Given the description of an element on the screen output the (x, y) to click on. 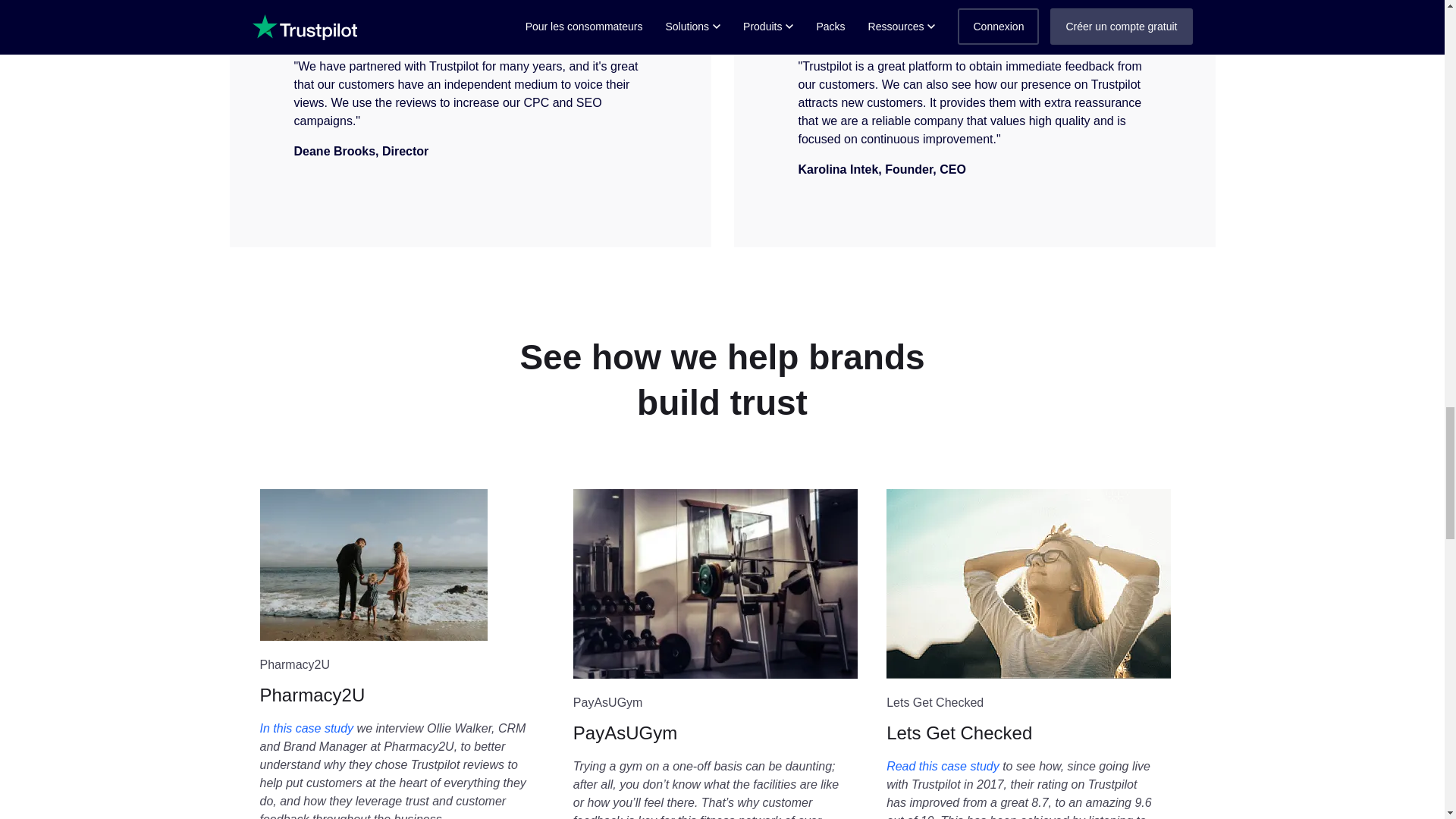
Pharmacy2U (408, 665)
PayAsUGym case study - Health and Beauty (715, 583)
